Given the description of an element on the screen output the (x, y) to click on. 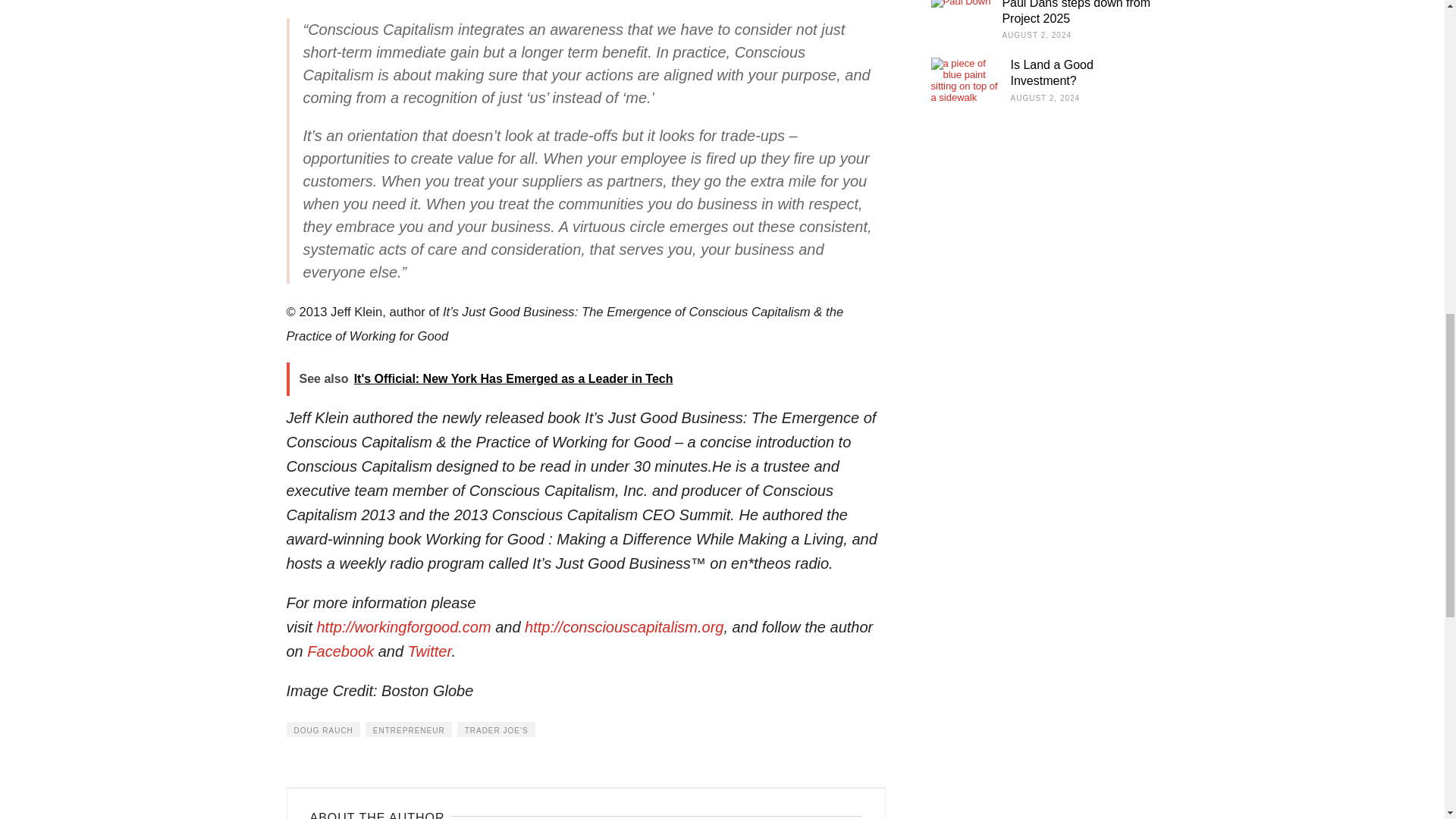
DOUG RAUCH (322, 729)
TRADER JOE'S (496, 729)
Facebook (340, 651)
Twitter (429, 651)
ENTREPRENEUR (408, 729)
